Given the description of an element on the screen output the (x, y) to click on. 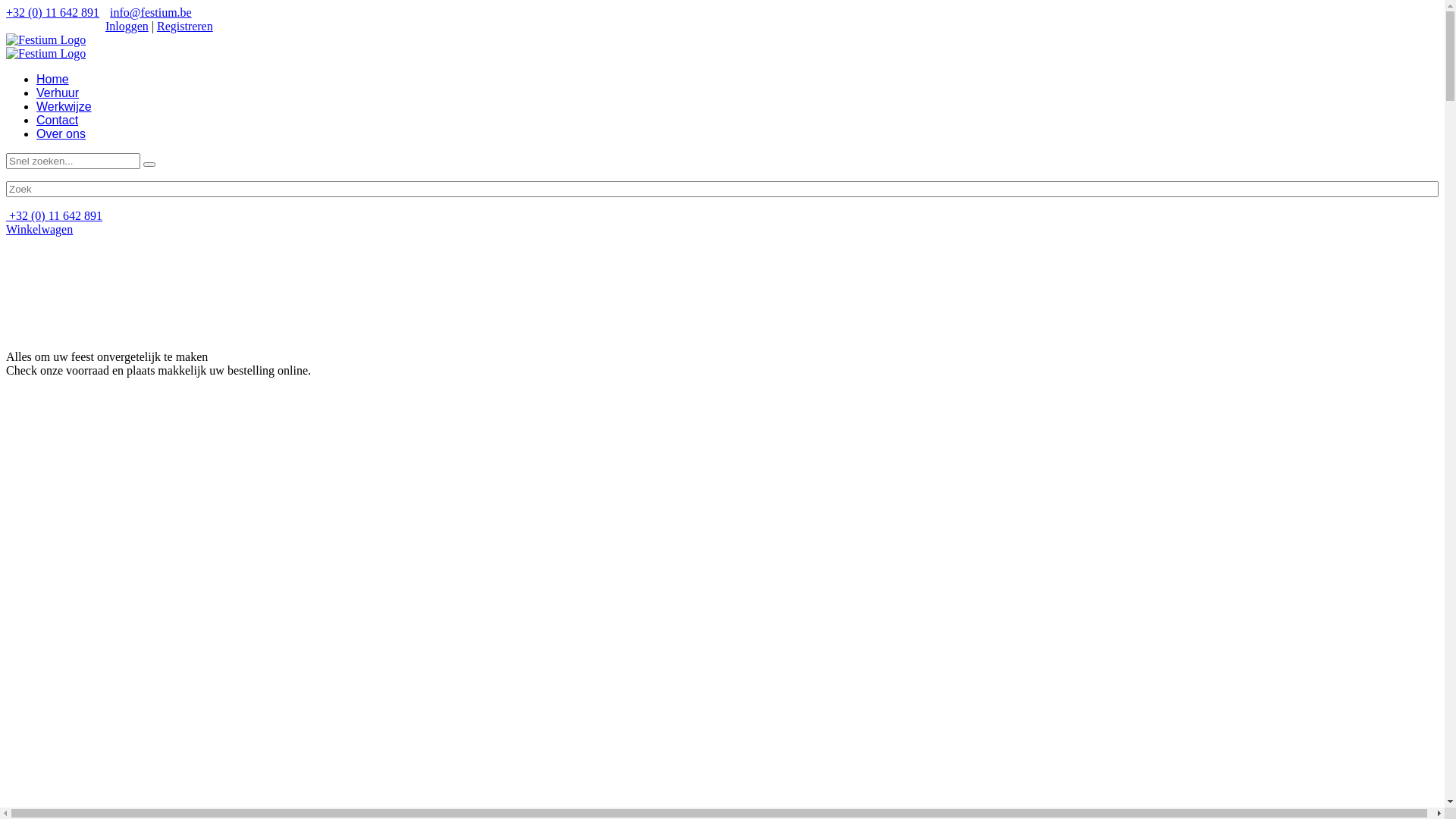
Over ons Element type: text (60, 133)
Werkwijze Element type: text (63, 106)
info@festium.be Element type: text (150, 12)
Home Element type: text (52, 78)
Winkelwagen Element type: text (39, 228)
Inloggen Element type: text (126, 25)
Contact Element type: text (57, 119)
Verhuur Element type: text (57, 92)
Winkelwagen (0) Element type: text (48, 25)
+32 (0) 11 642 891 Element type: text (52, 12)
Registreren Element type: text (184, 25)
Zoek Element type: text (17, 7)
 +32 (0) 11 642 891 Element type: text (54, 215)
